Given the description of an element on the screen output the (x, y) to click on. 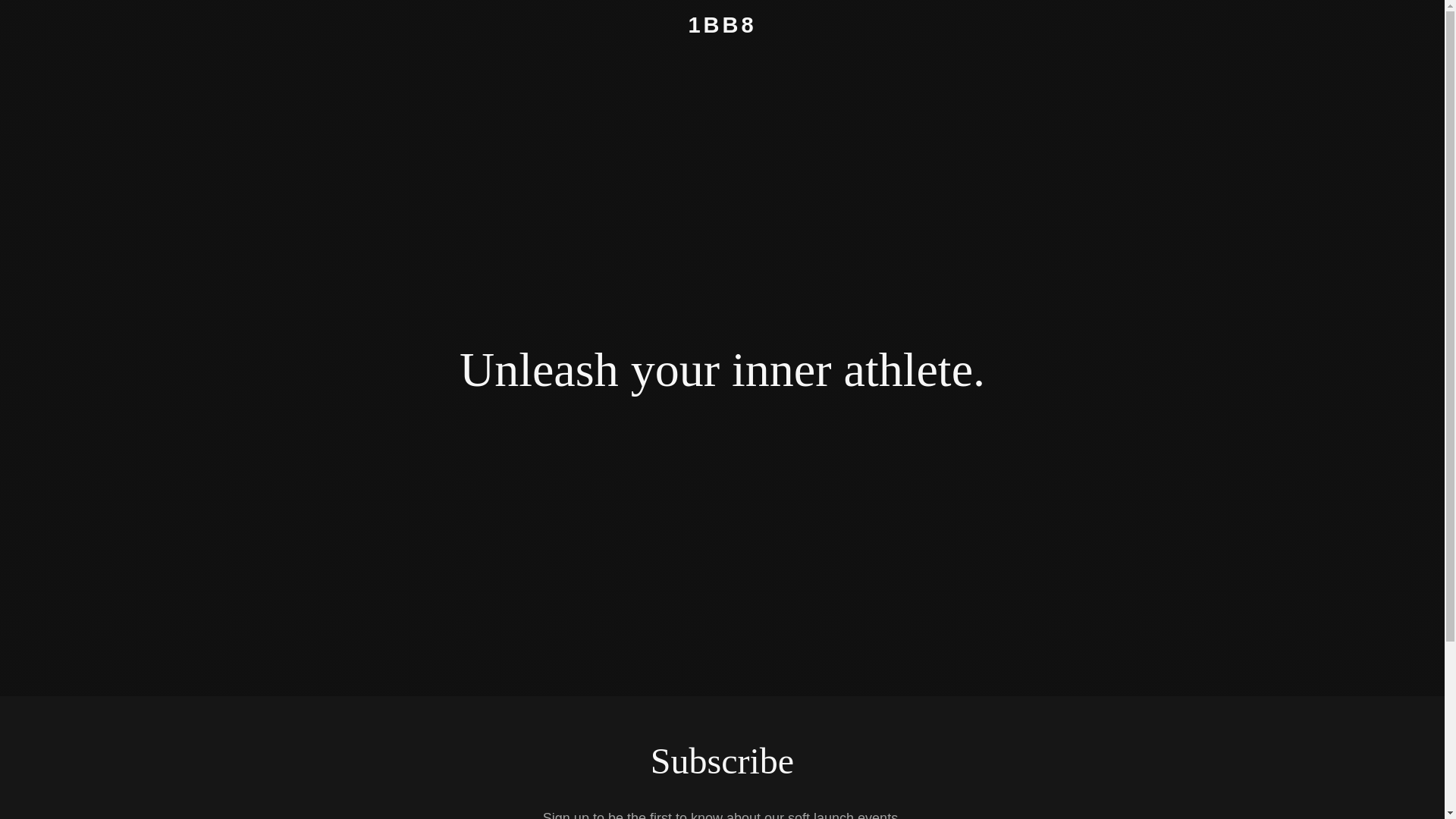
1BB8 Element type: text (721, 27)
